Given the description of an element on the screen output the (x, y) to click on. 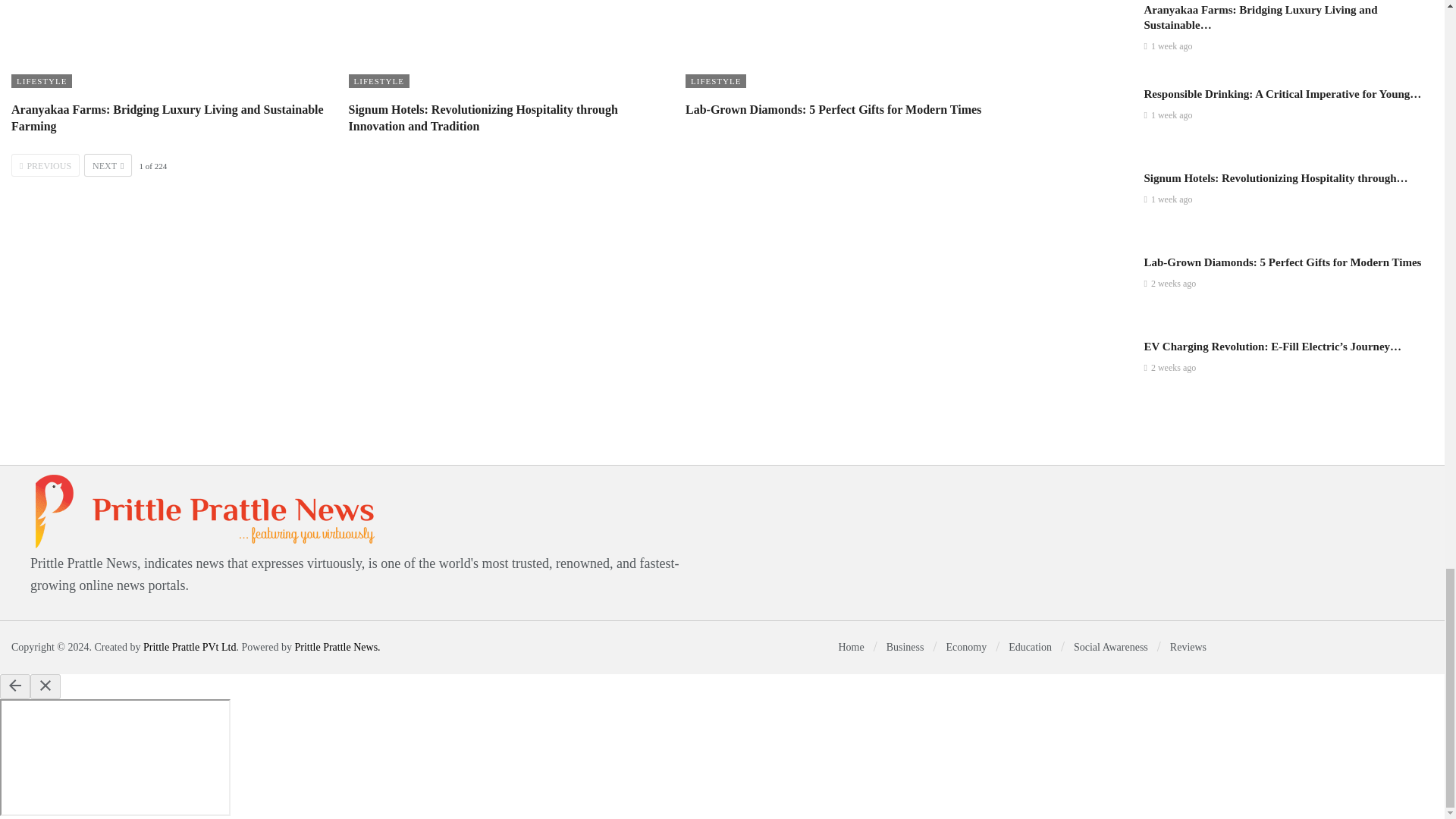
Next (108, 164)
Previous (45, 164)
Lab-Grown Diamonds: 5 Perfect Gifts for Modern Times (833, 109)
Lab-Grown Diamonds: 5 Perfect Gifts for Modern Times (842, 45)
